Given the description of an element on the screen output the (x, y) to click on. 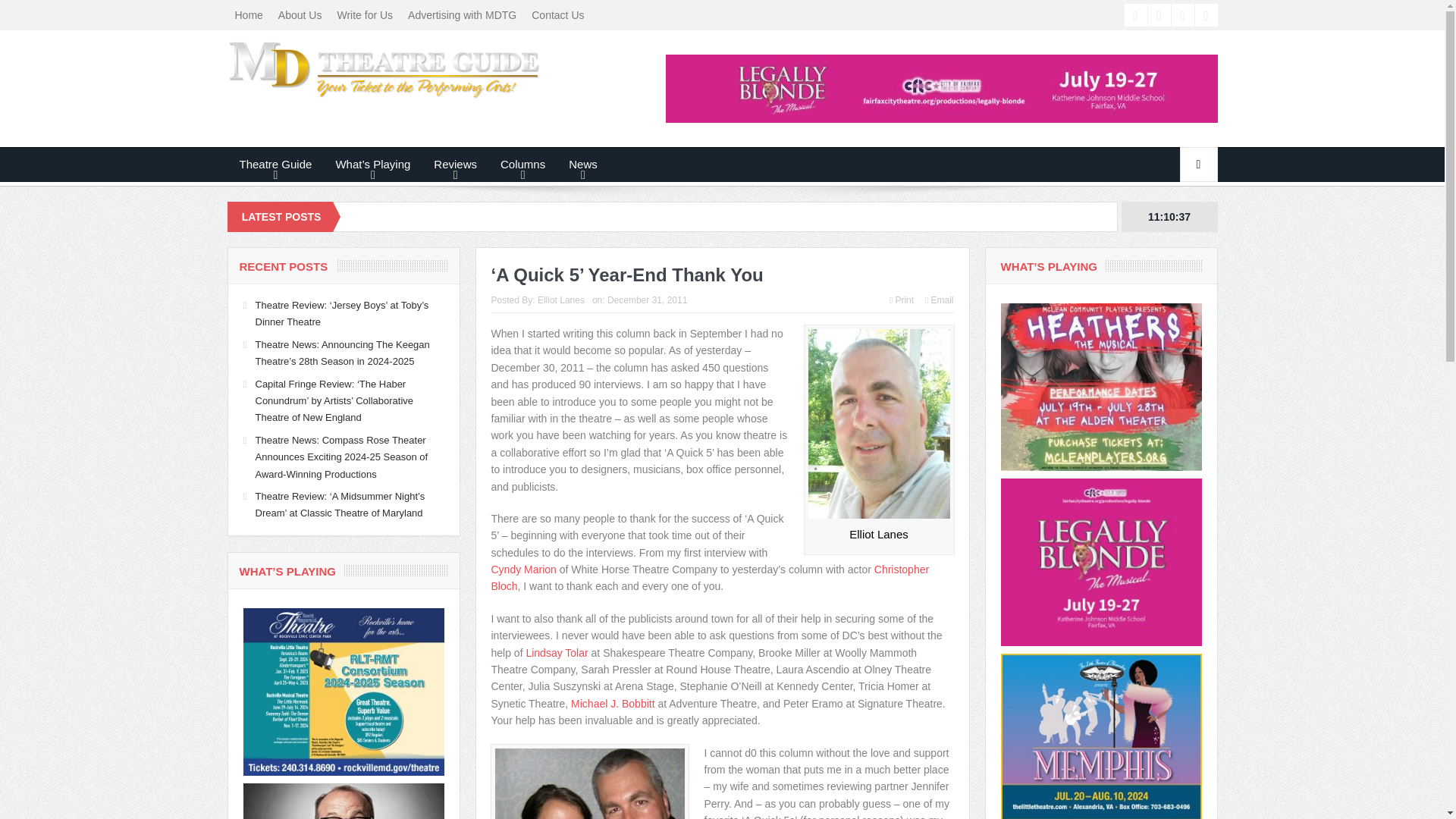
Columns (522, 164)
About Us (300, 15)
Write for Us (364, 15)
Reviews (454, 164)
Advertising with MDTG (462, 15)
Home (248, 15)
Theatre Guide (275, 164)
Contact Us (557, 15)
